Given the description of an element on the screen output the (x, y) to click on. 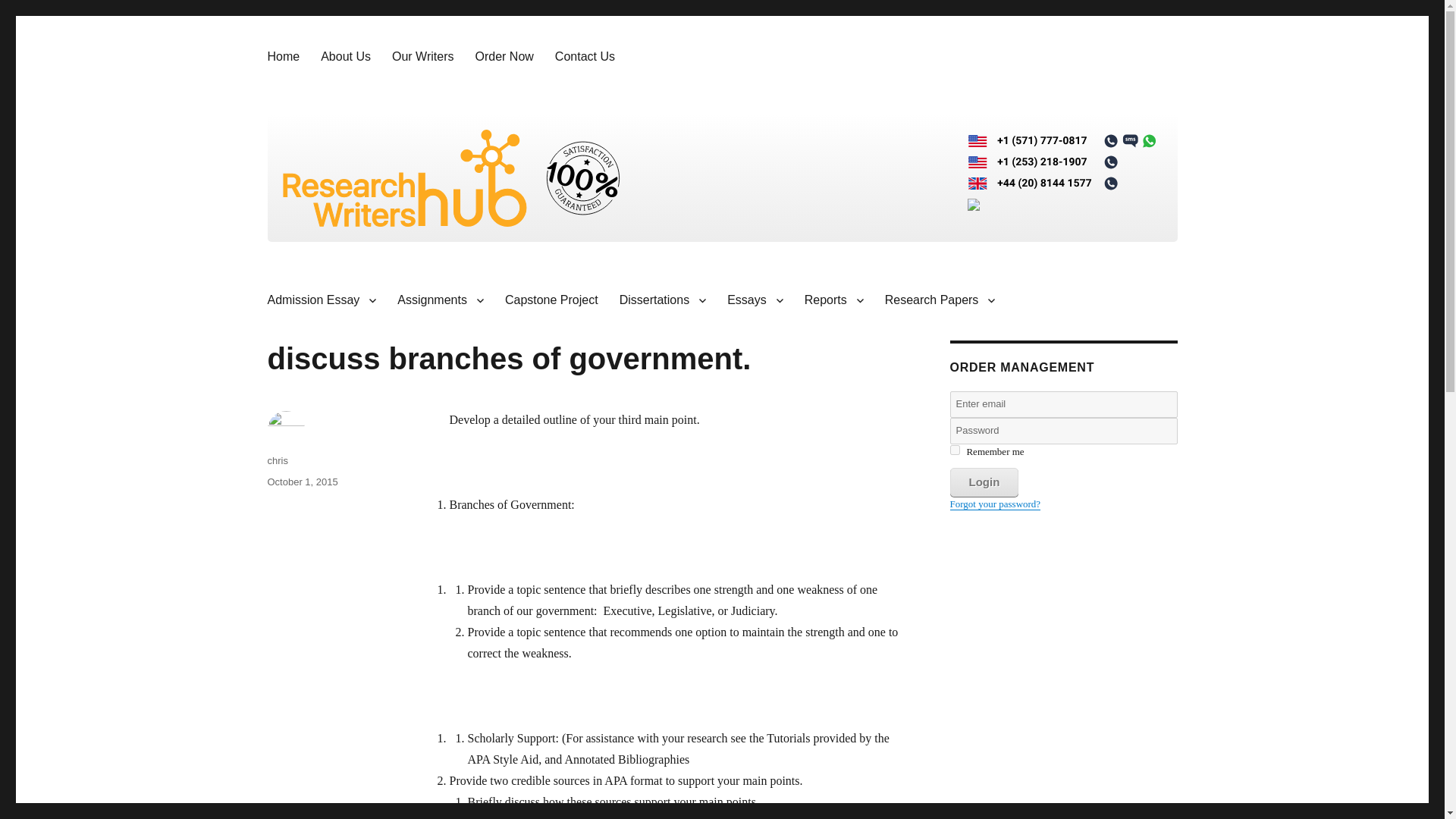
Dissertations (662, 300)
on (954, 450)
Assignments (441, 300)
Home (283, 56)
Order Now (503, 56)
Capstone Project (551, 300)
About Us (345, 56)
Essays (754, 300)
click to Login (983, 481)
October 1, 2015 (301, 481)
Admission Essay (321, 300)
Recover password (995, 503)
chris (276, 460)
Our Writers (422, 56)
Contact Us (585, 56)
